Given the description of an element on the screen output the (x, y) to click on. 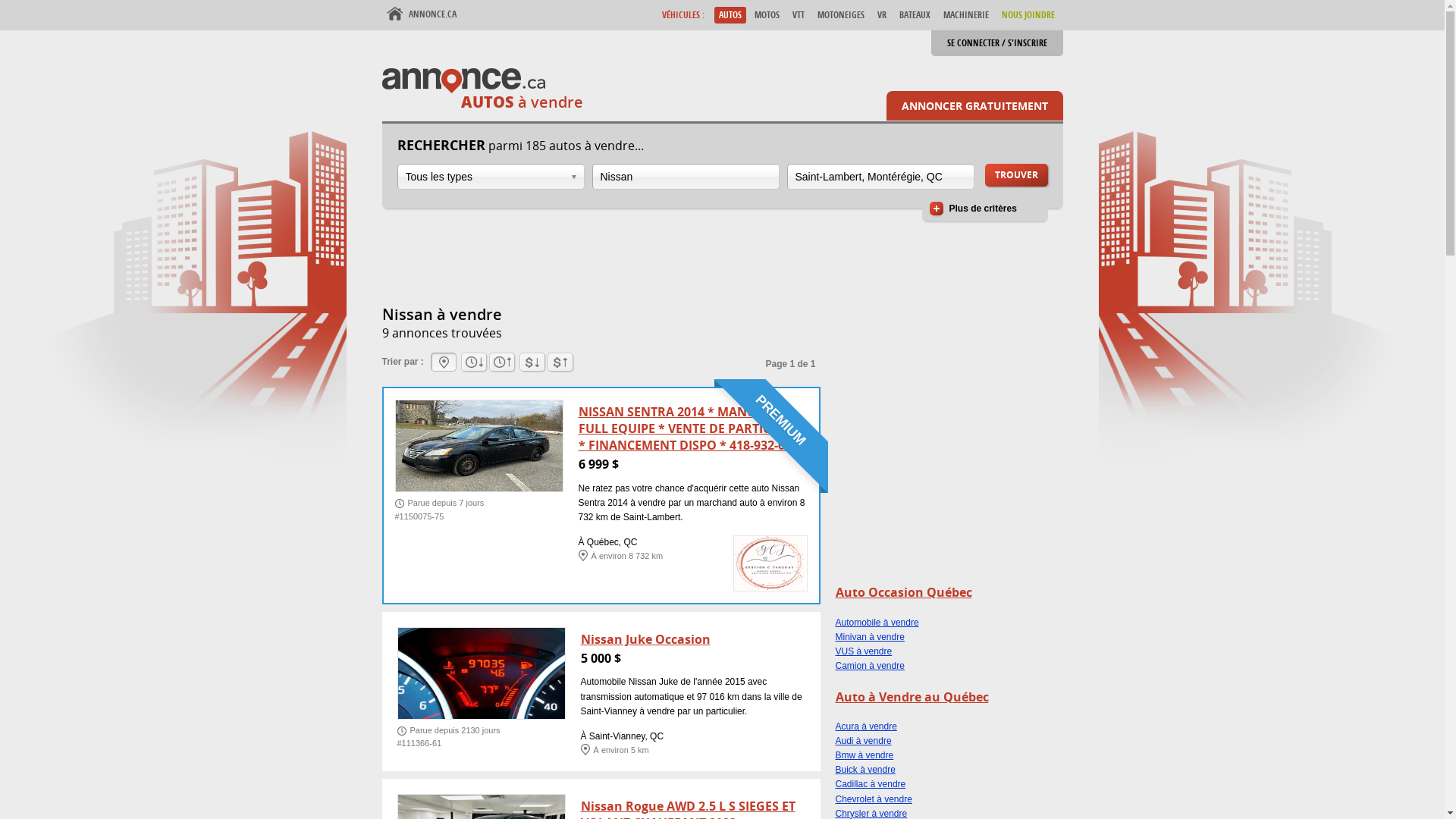
BATEAUX Element type: text (914, 14)
Prix croissant Element type: hover (532, 361)
VTT Element type: text (797, 14)
TROUVER Element type: text (1015, 174)
SE CONNECTER / S'INSCRIRE Element type: text (997, 43)
Advertisement Element type: hover (658, 265)
VR Element type: text (881, 14)
ANNONCE.CA Element type: text (422, 14)
Advertisement Element type: hover (949, 481)
NOUS JOINDRE Element type: text (1027, 14)
MOTOS Element type: text (766, 14)
MACHINERIE Element type: text (965, 14)
ANNONCER GRATUITEMENT Element type: text (973, 105)
AUTOS Element type: text (730, 14)
MOTONEIGES Element type: text (840, 14)
